Given the description of an element on the screen output the (x, y) to click on. 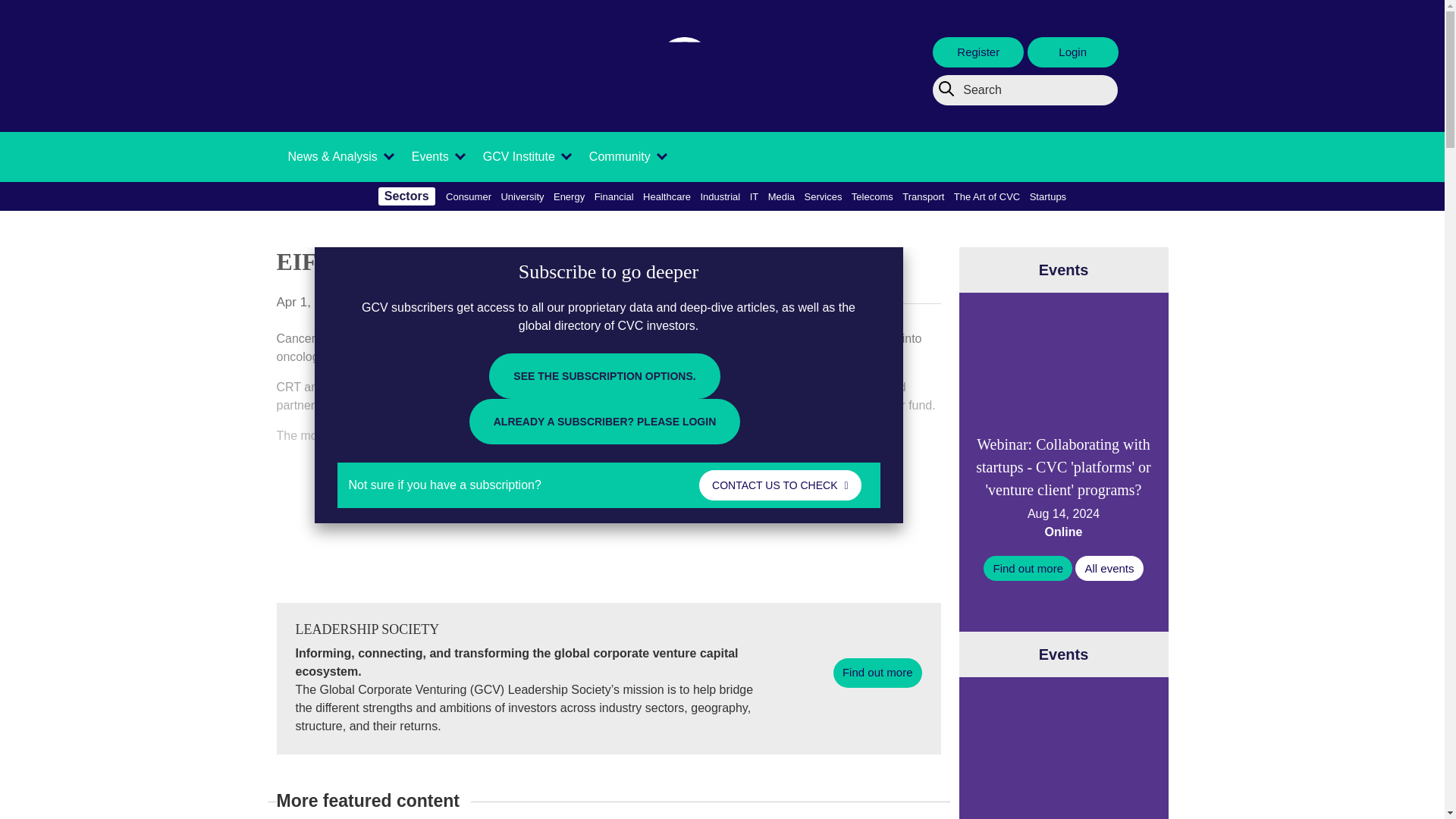
Login (1072, 51)
Register (979, 51)
Register (978, 51)
Login (1072, 51)
